Given the description of an element on the screen output the (x, y) to click on. 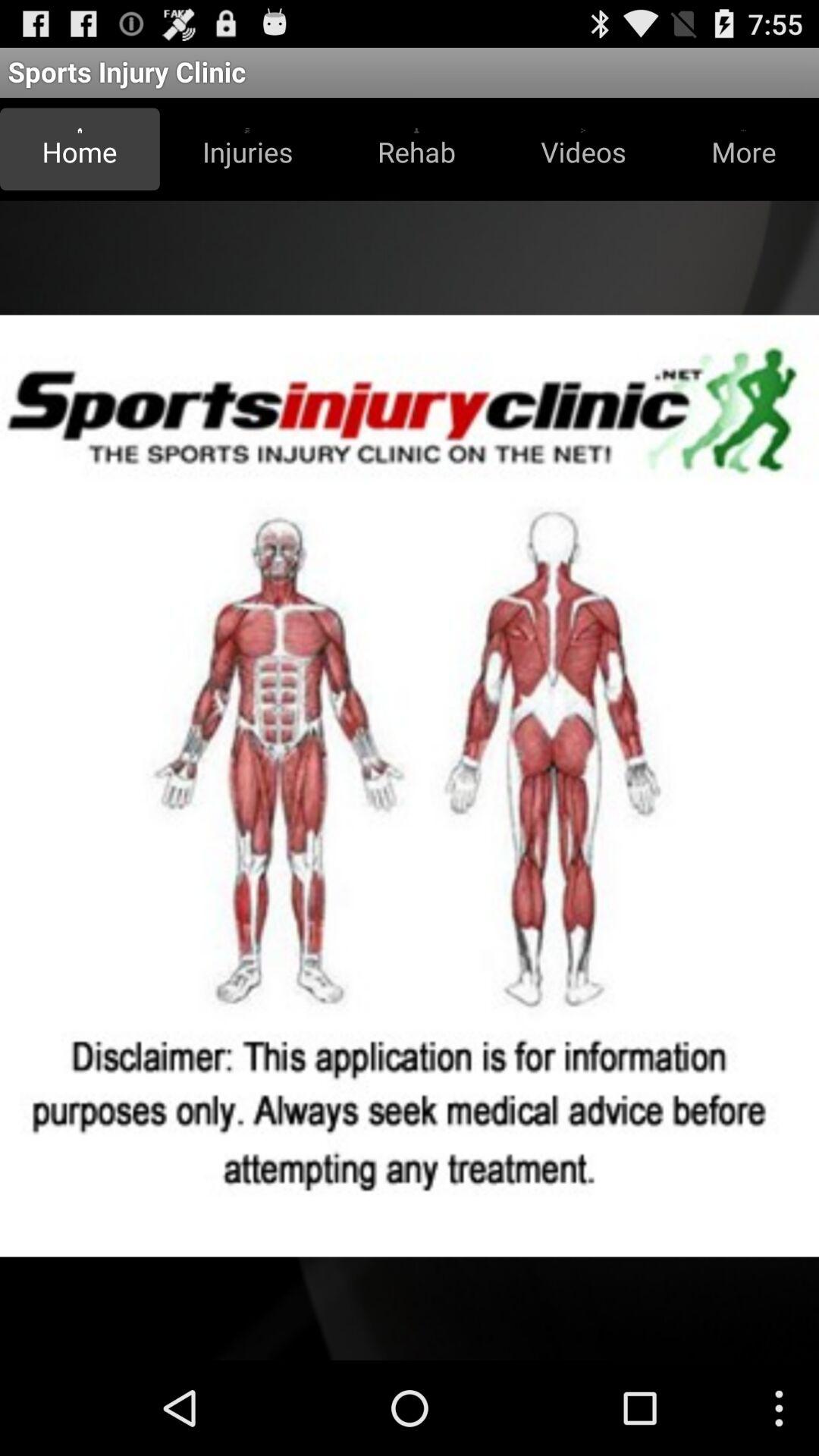
open button to the right of videos icon (743, 149)
